Given the description of an element on the screen output the (x, y) to click on. 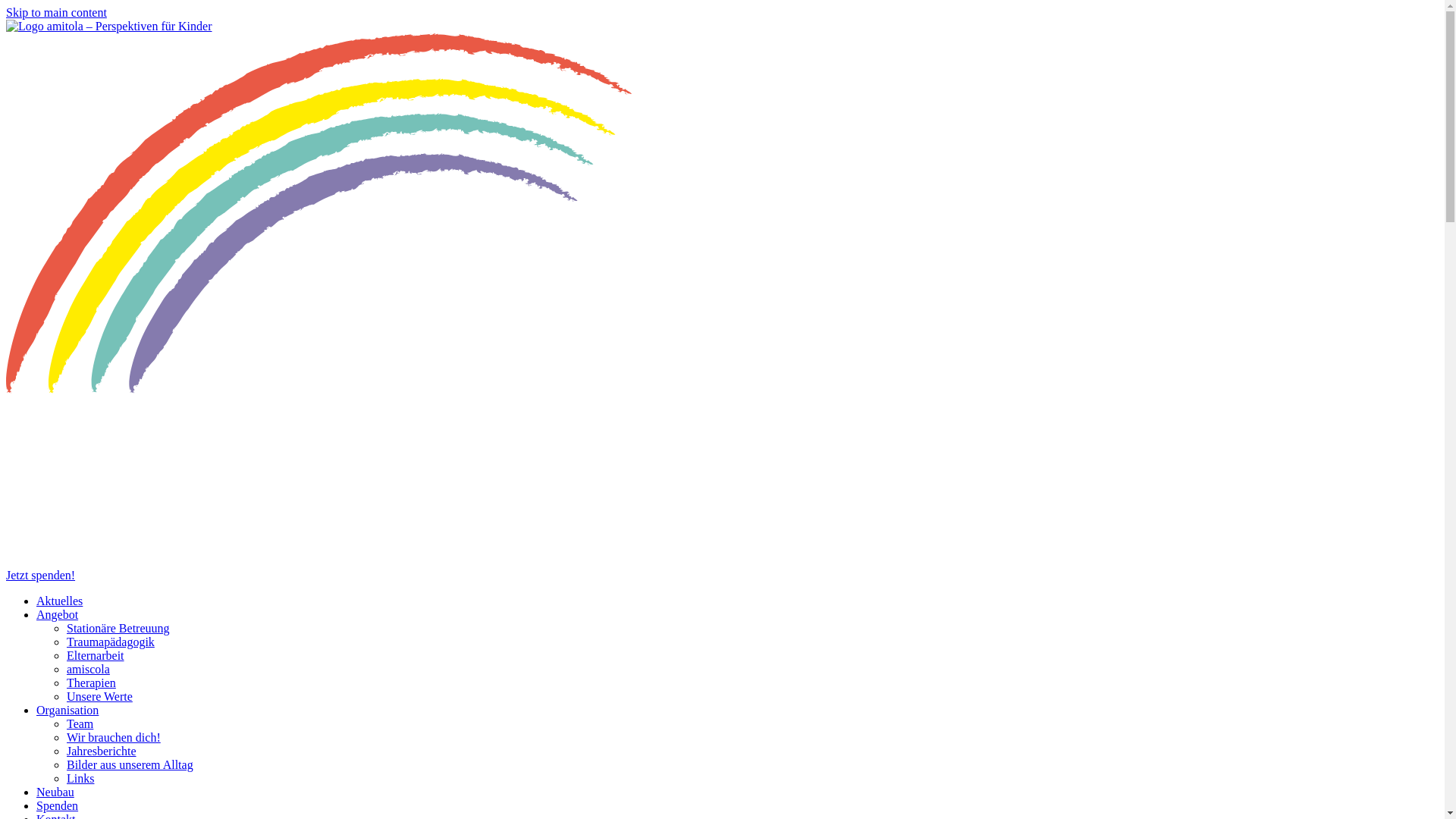
Jetzt spenden! Element type: text (40, 574)
Elternarbeit Element type: text (95, 655)
Neubau Element type: text (55, 791)
Therapien Element type: text (91, 682)
Links Element type: text (80, 777)
Team Element type: text (79, 723)
Unsere Werte Element type: text (99, 696)
amiscola Element type: text (87, 668)
Jahresberichte Element type: text (101, 750)
Angebot Element type: text (57, 614)
Spenden Element type: text (57, 805)
Bilder aus unserem Alltag Element type: text (129, 764)
Aktuelles Element type: text (59, 600)
Organisation Element type: text (67, 709)
Wir brauchen dich! Element type: text (113, 737)
Skip to main content Element type: text (56, 12)
